Given the description of an element on the screen output the (x, y) to click on. 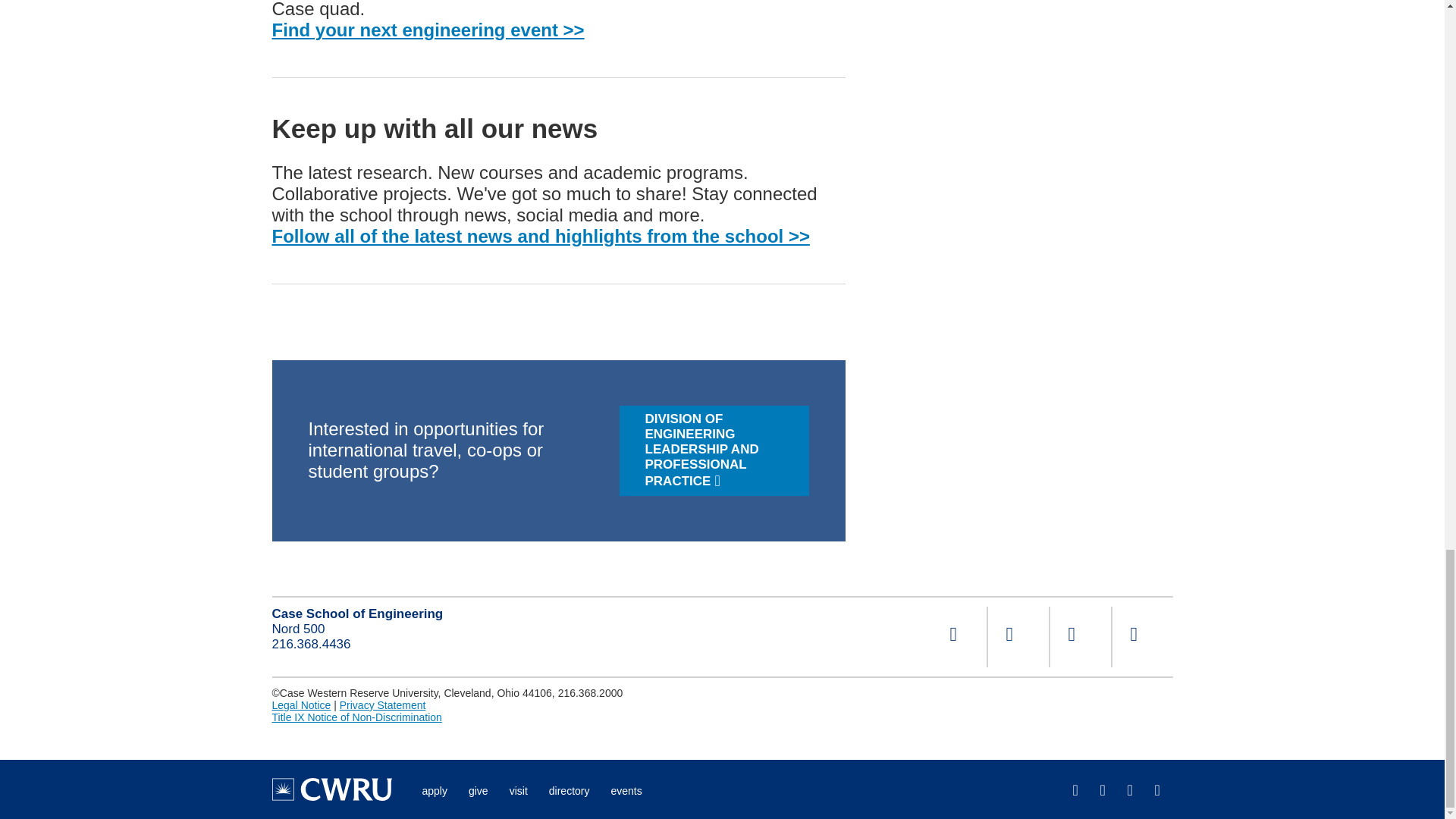
Instagram (1017, 636)
Twitter (1079, 636)
